Given the description of an element on the screen output the (x, y) to click on. 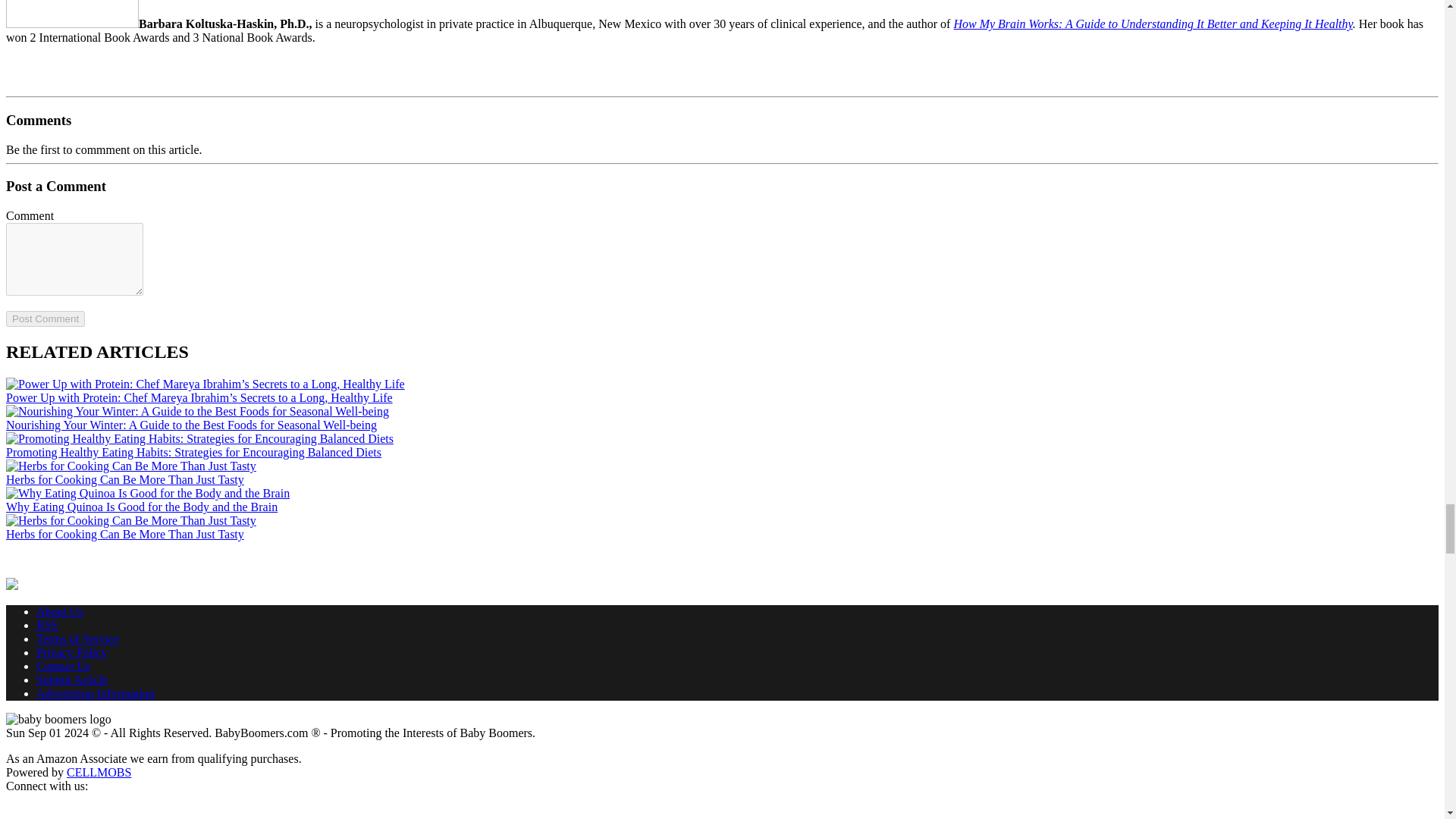
RSS (47, 625)
Post Comment (44, 318)
About Us (59, 611)
